Given the description of an element on the screen output the (x, y) to click on. 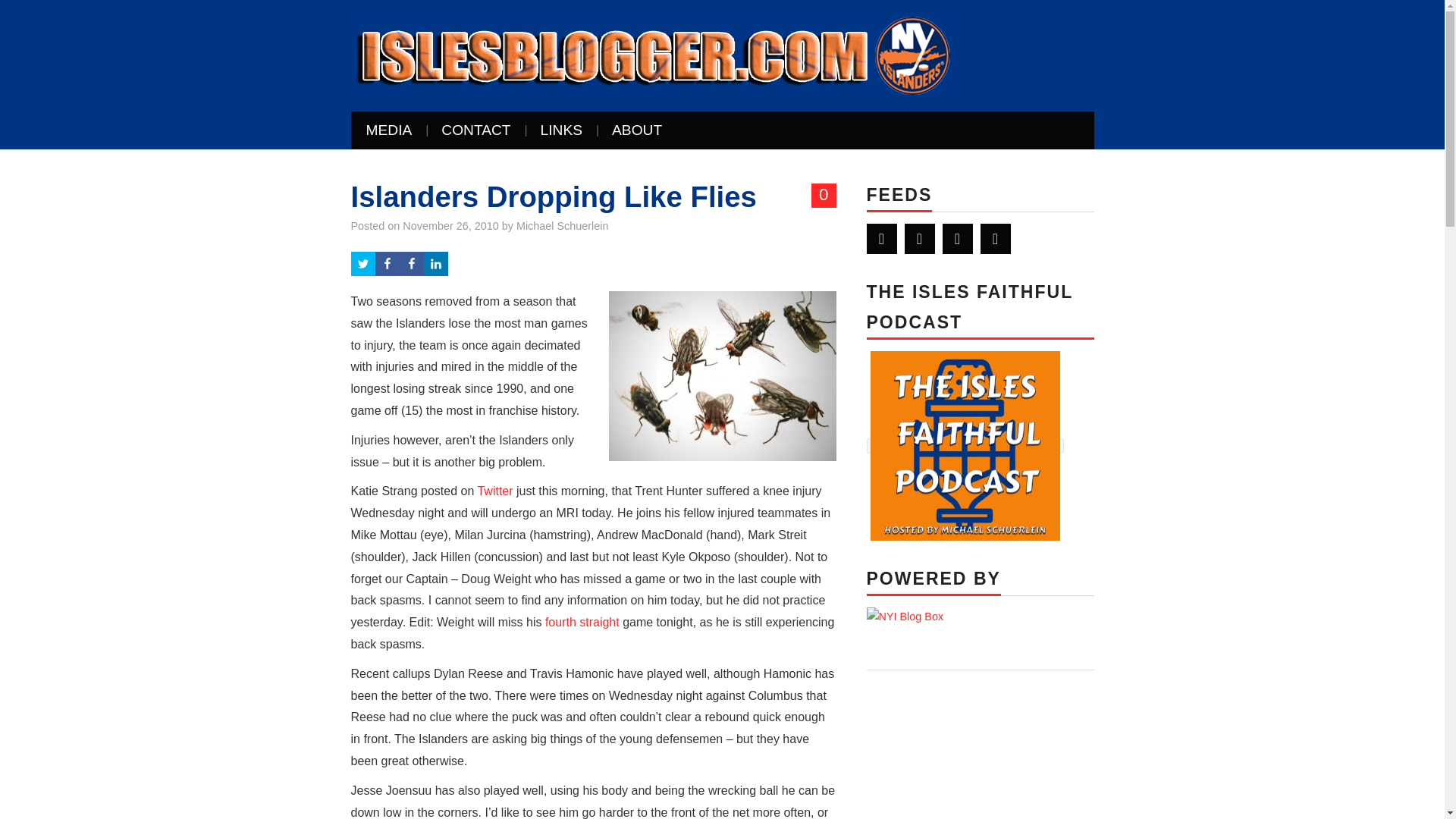
Tumblr (994, 238)
Twitter (881, 238)
November 26, 2010 (450, 225)
0 (822, 195)
NYI Blog Box (904, 617)
Facebook (919, 238)
LINKS (560, 130)
CONTACT (475, 130)
YouTube (957, 238)
11:42 am (450, 225)
Share on Facebook (410, 263)
ABOUT (636, 130)
fourth straight (582, 621)
Share on LinkedIn (434, 263)
Michael Schuerlein (562, 225)
